Given the description of an element on the screen output the (x, y) to click on. 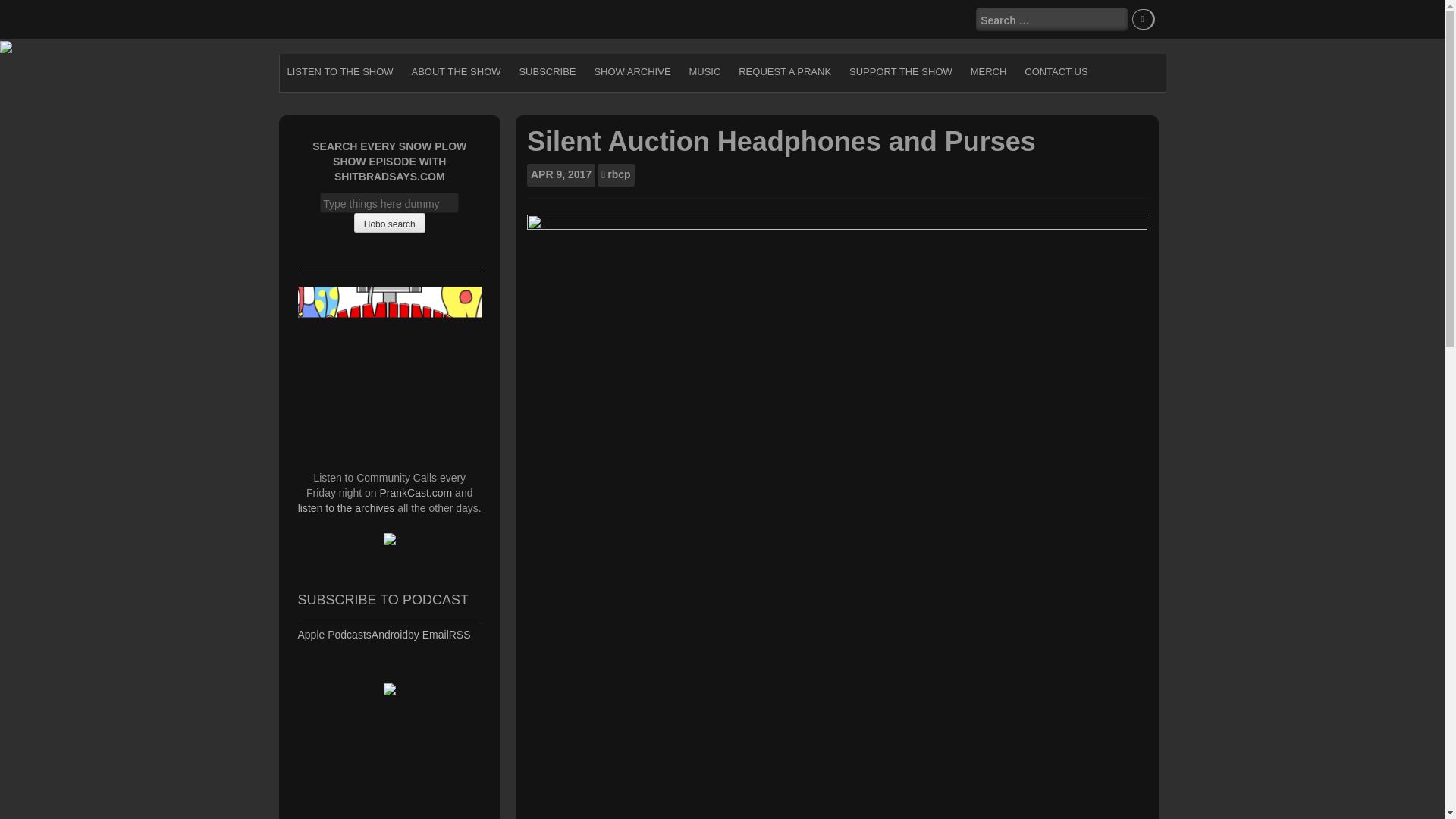
REQUEST A PRANK (784, 71)
rbcp (618, 174)
MERCH (988, 71)
Subscribe via RSS (459, 634)
Subscribe by Email (427, 634)
Subscribe on Apple Podcasts (334, 634)
SHOW ARCHIVE (632, 71)
Hobo search (389, 222)
MUSIC (704, 71)
SUPPORT THE SHOW (900, 71)
